Given the description of an element on the screen output the (x, y) to click on. 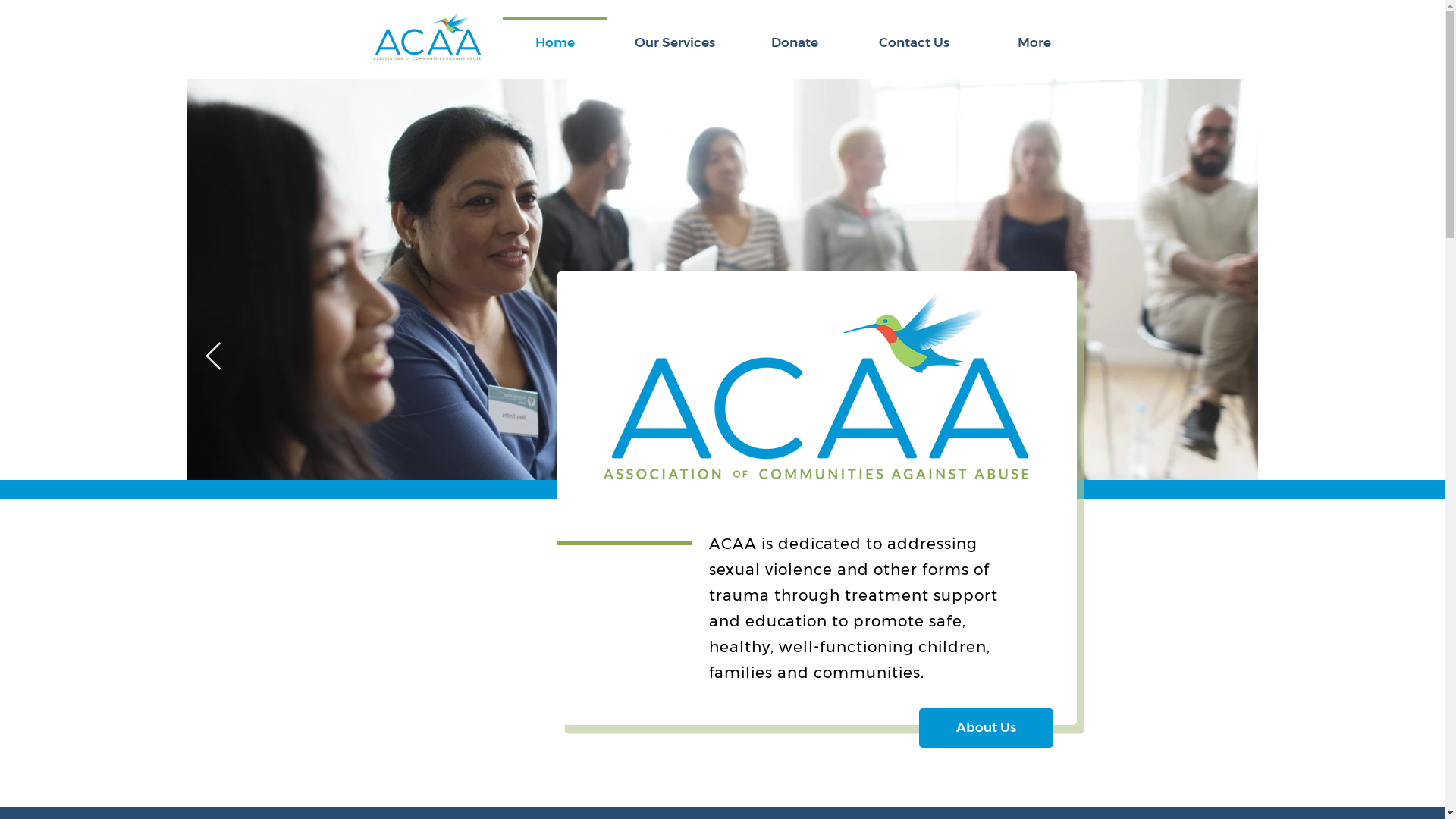
Donate Element type: text (793, 35)
About Us Element type: text (986, 727)
Our Services Element type: text (674, 35)
Contact Us Element type: text (913, 35)
Home Element type: text (554, 35)
